Given the description of an element on the screen output the (x, y) to click on. 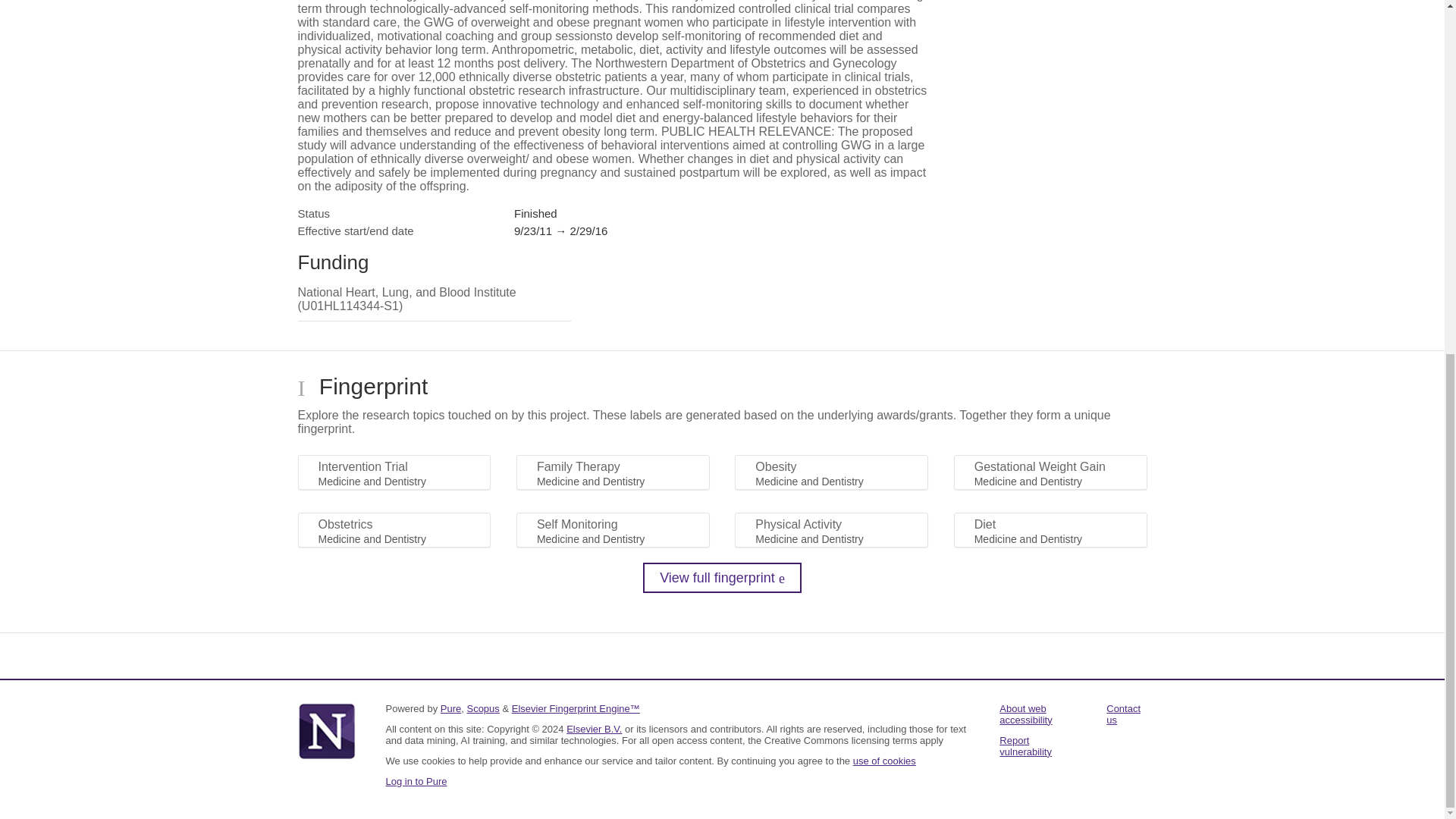
Log in to Pure (415, 781)
View full fingerprint (722, 577)
Pure (451, 708)
Elsevier B.V. (593, 728)
About web accessibility (1024, 713)
Scopus (482, 708)
Report vulnerability (1024, 745)
Contact us (1123, 713)
use of cookies (884, 760)
